Given the description of an element on the screen output the (x, y) to click on. 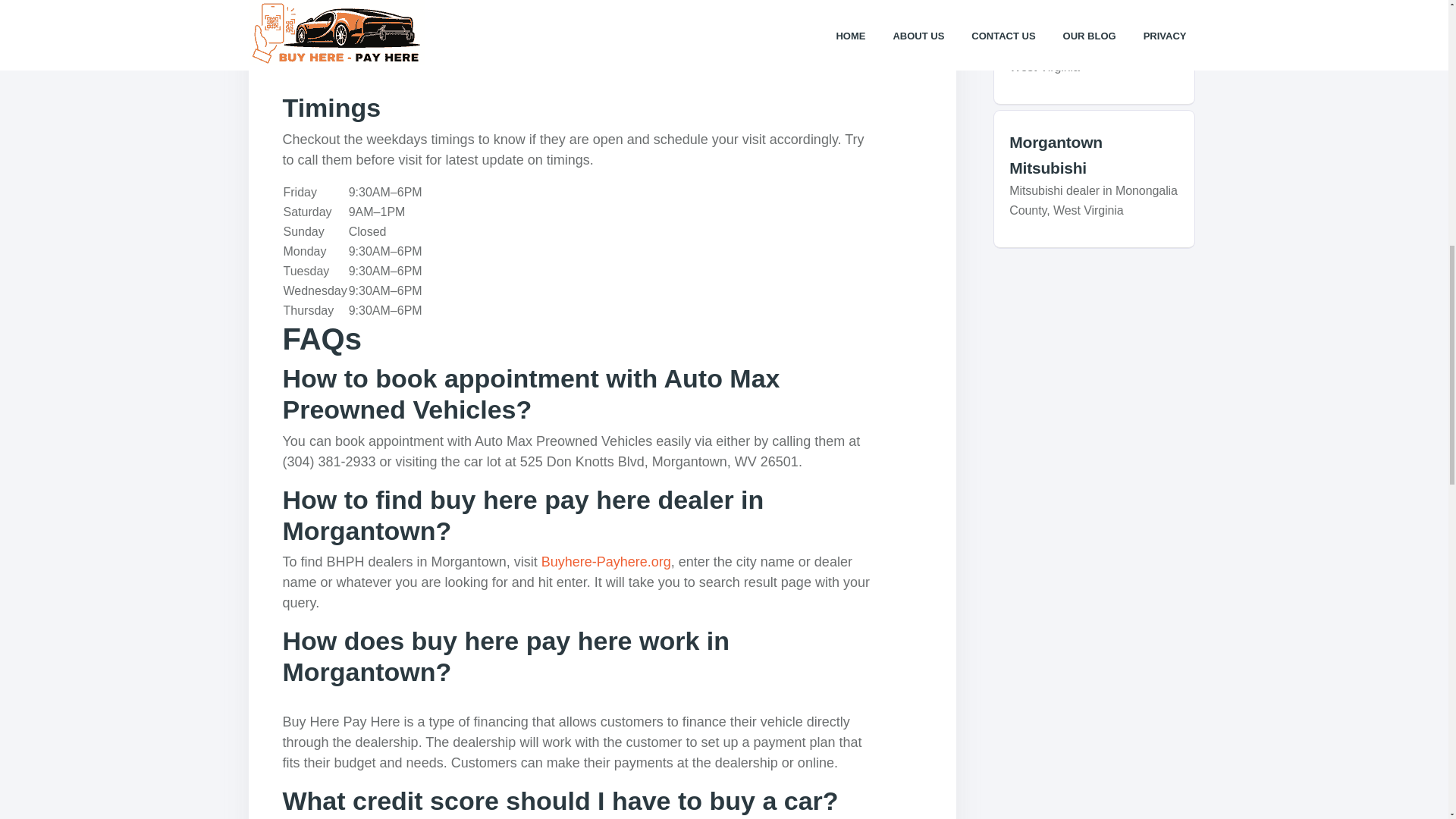
Buyhere-Payhere.org (606, 562)
